Given the description of an element on the screen output the (x, y) to click on. 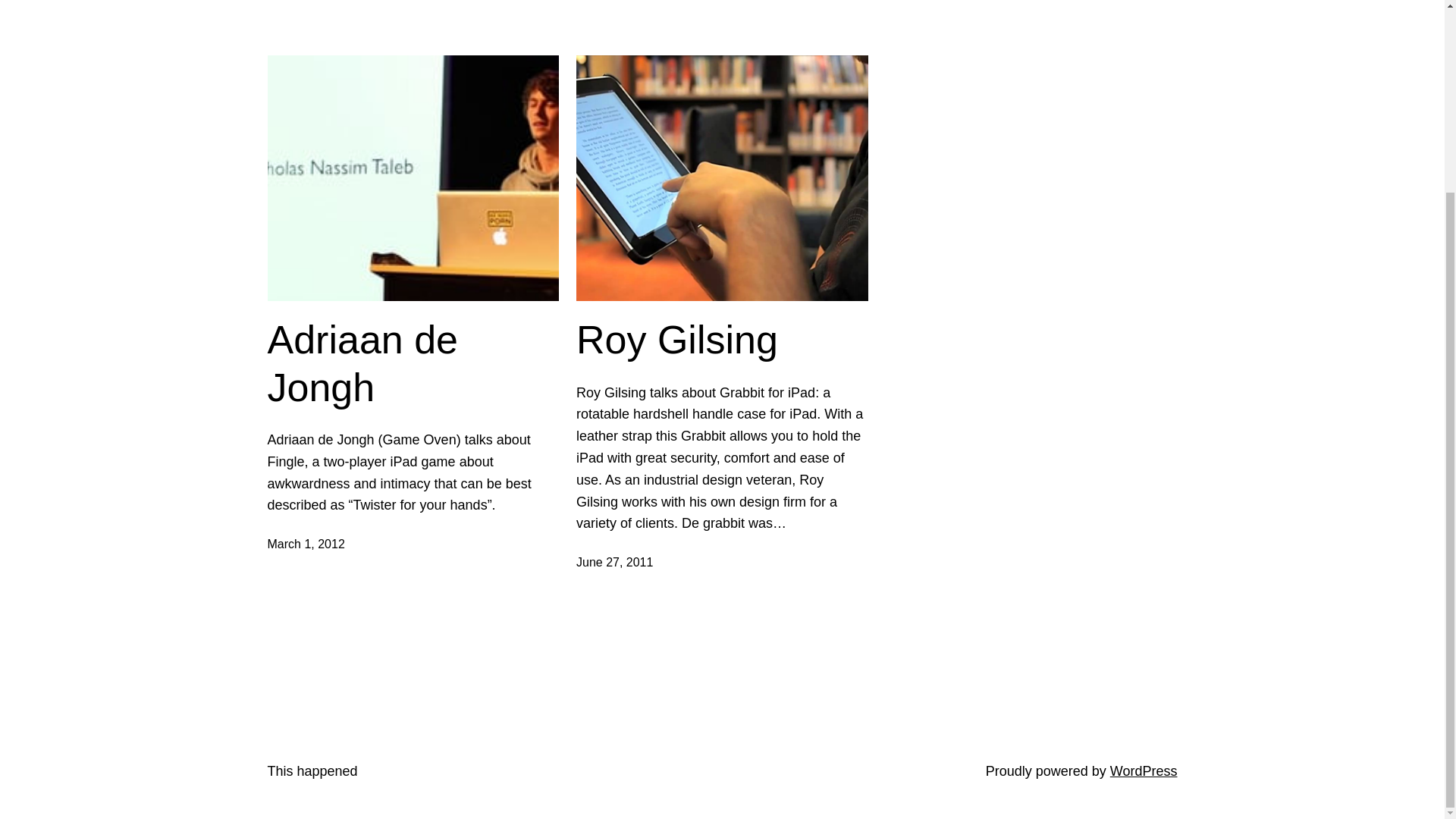
WordPress (1143, 770)
March 1, 2012 (304, 543)
June 27, 2011 (614, 562)
This happened (311, 770)
Roy Gilsing (676, 339)
Adriaan de Jongh (412, 363)
